Given the description of an element on the screen output the (x, y) to click on. 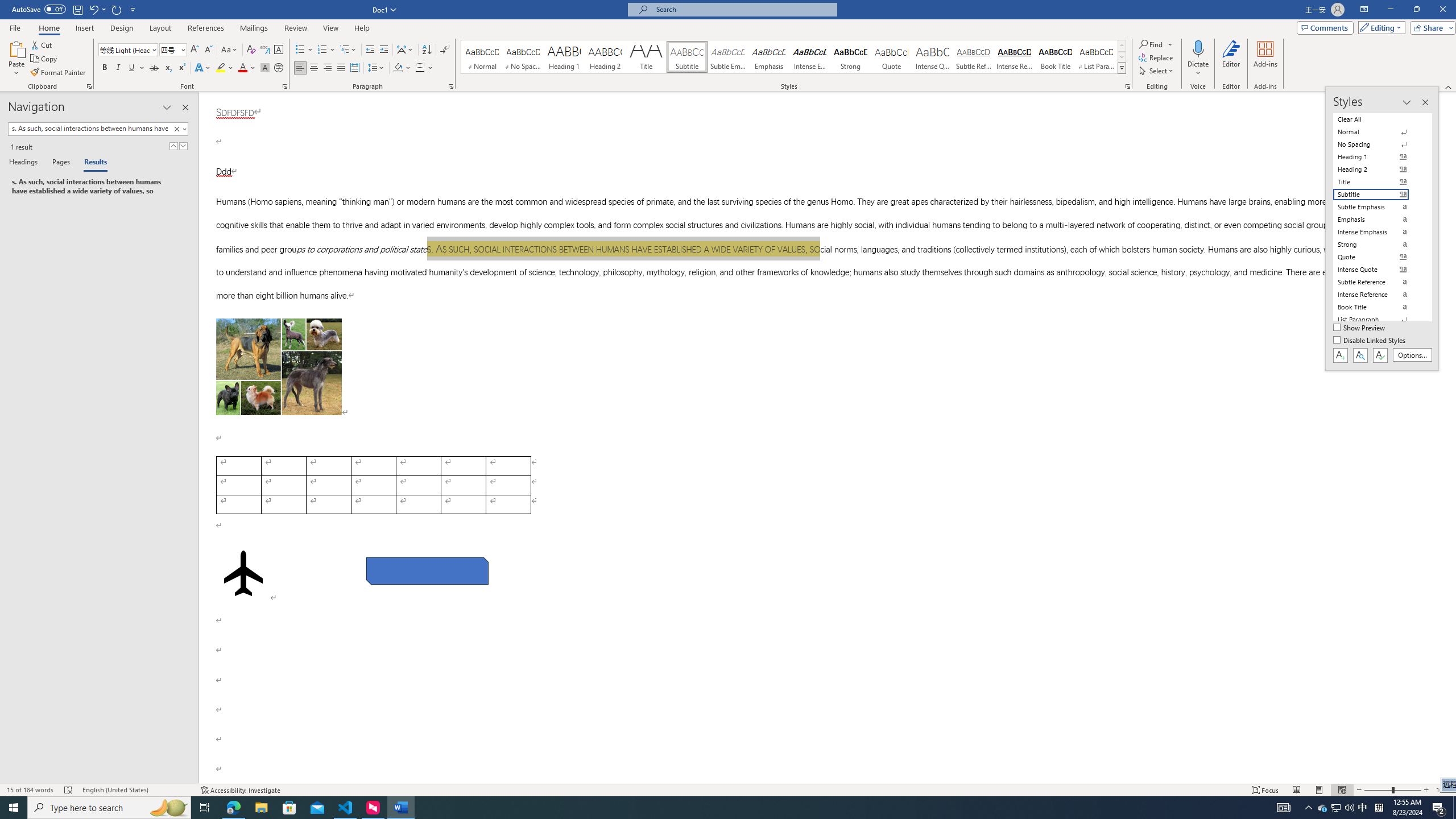
Styles (1121, 67)
Show Preview (1360, 328)
Font Size (169, 49)
Bold (104, 67)
Word Count 15 of 184 words (30, 790)
Subscript (167, 67)
Search document (89, 128)
Multilevel List (347, 49)
Character Shading (264, 67)
Open (182, 49)
Save (77, 9)
List Paragraph (1377, 319)
Accessibility Checker Accessibility: Investigate (240, 790)
Clear (176, 128)
